Given the description of an element on the screen output the (x, y) to click on. 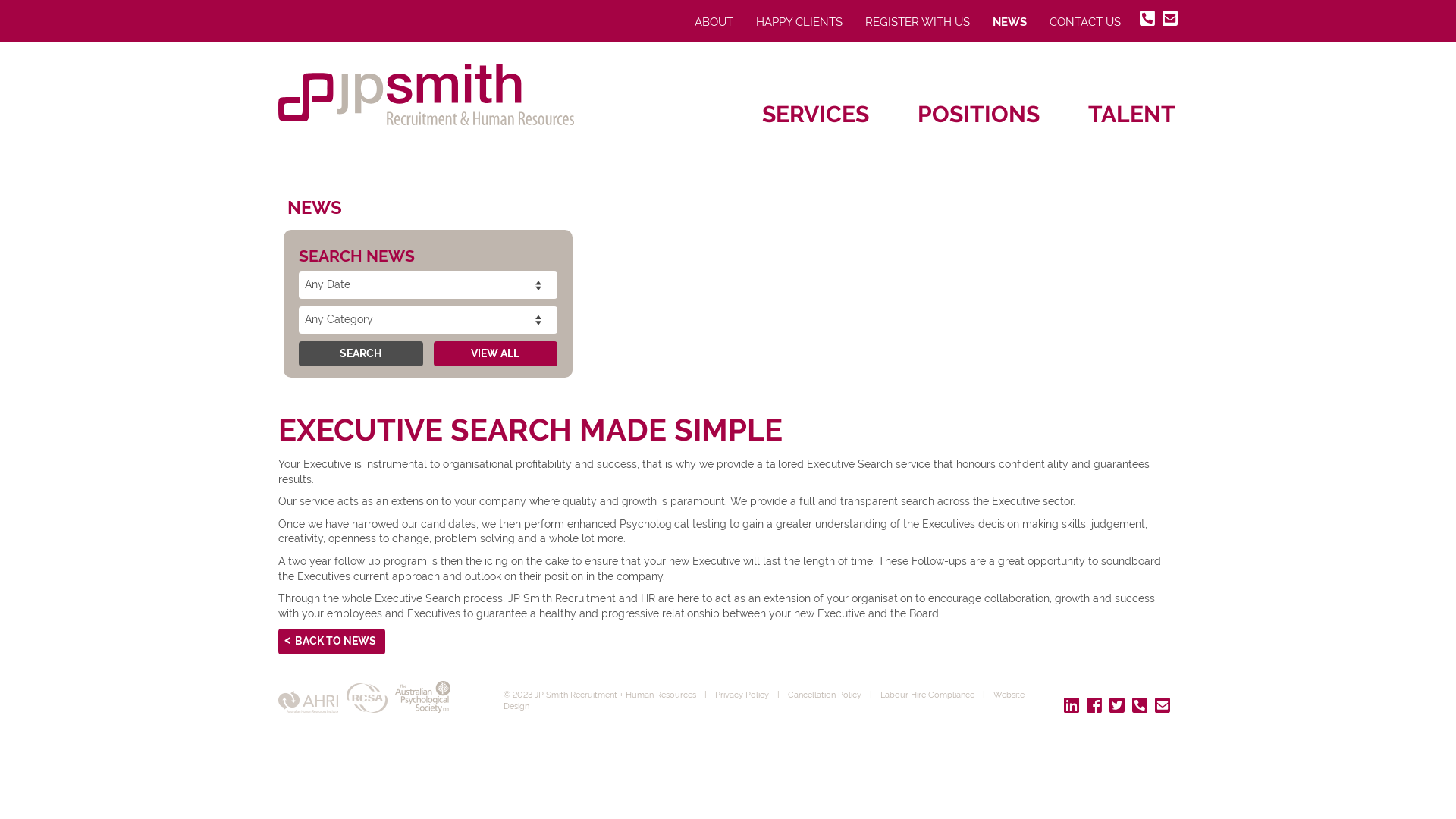
SEARCH Element type: text (360, 354)
ABOUT Element type: text (713, 21)
CONTACT US Element type: text (1085, 21)
Privacy Policy Element type: text (741, 694)
NEWS Element type: text (1009, 21)
POSITIONS Element type: text (978, 114)
Cancellation Policy Element type: text (823, 694)
REGISTER WITH US Element type: text (917, 21)
BACK TO NEWS Element type: text (331, 641)
TALENT Element type: text (1131, 114)
Website Design Element type: text (763, 700)
Labour Hire Compliance Element type: text (926, 694)
HAPPY CLIENTS Element type: text (798, 21)
VIEW ALL Element type: text (495, 354)
SERVICES Element type: text (815, 114)
